Given the description of an element on the screen output the (x, y) to click on. 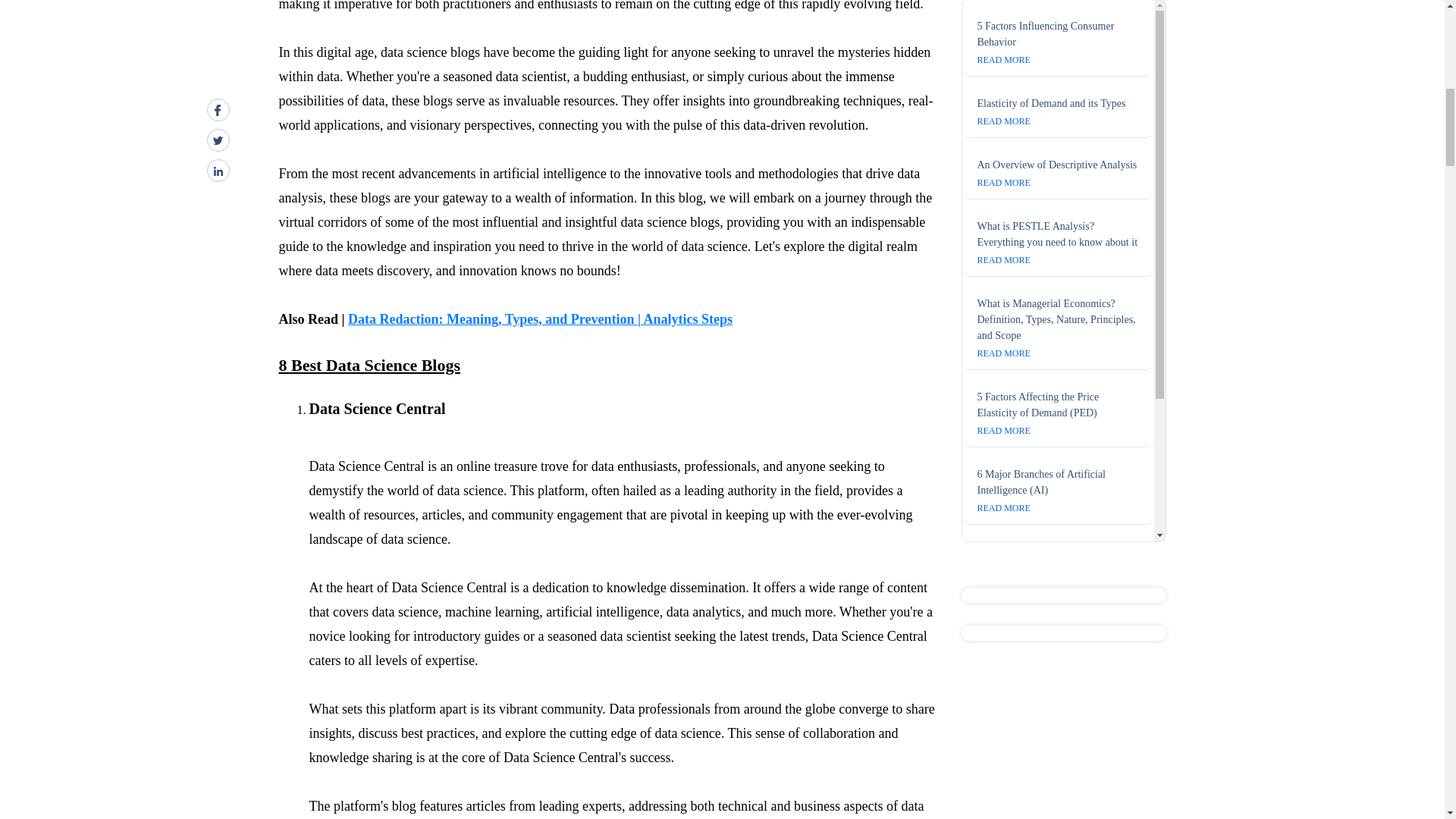
READ MORE (1002, 507)
READ MORE (1002, 646)
READ MORE (1002, 569)
READ MORE (1002, 259)
READ MORE (1002, 121)
READ MORE (1002, 182)
READ MORE (1002, 707)
READ MORE (1002, 59)
READ MORE (1002, 353)
READ MORE (1002, 430)
